Given the description of an element on the screen output the (x, y) to click on. 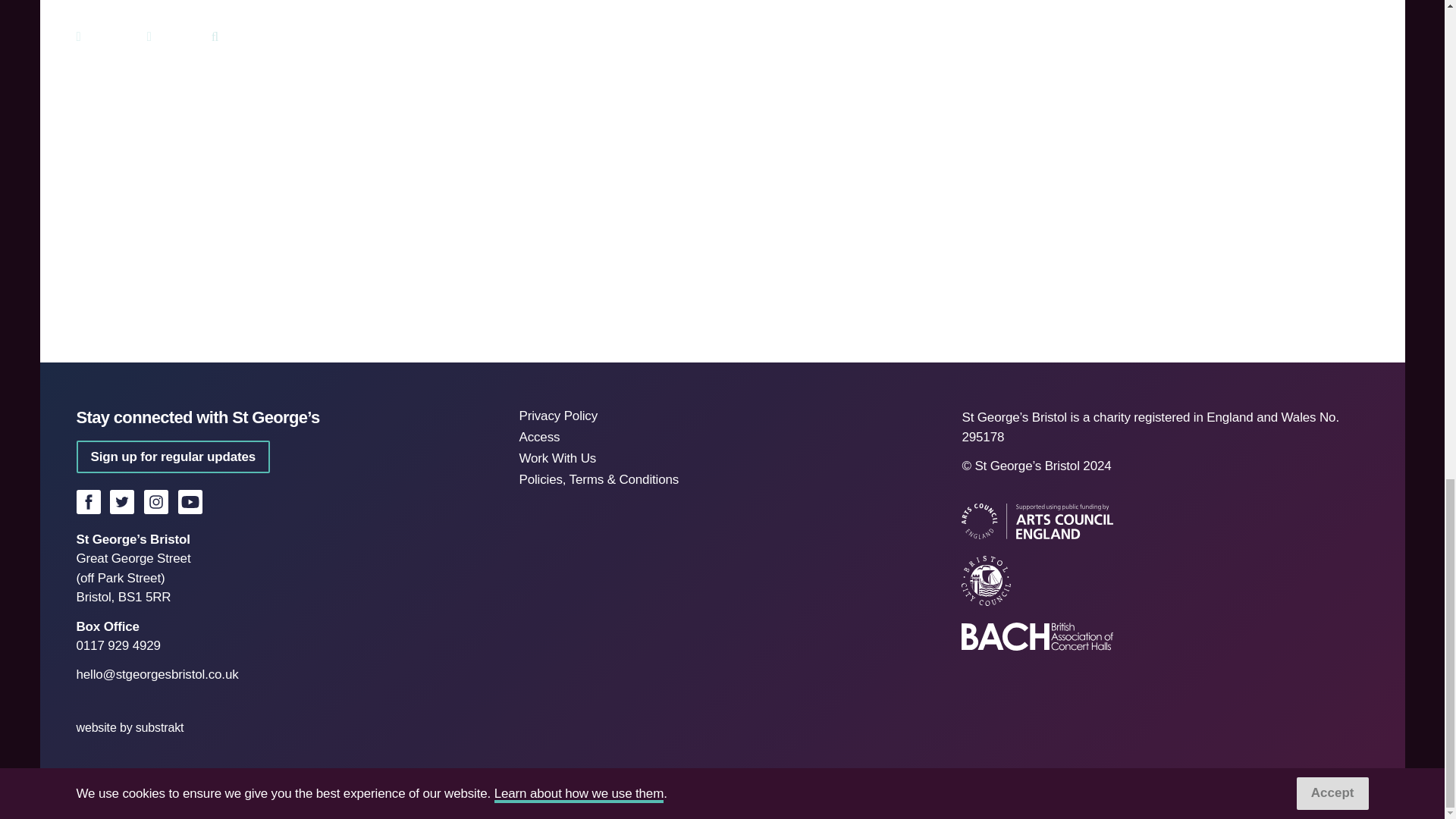
0117 929 4929 (117, 645)
Twitter (121, 501)
Instagram (156, 501)
YouTube (189, 501)
Work With Us (556, 458)
Access (538, 436)
substrakt (159, 727)
Facebook (87, 501)
Privacy Policy (557, 415)
Sign up for regular updates (172, 456)
